Given the description of an element on the screen output the (x, y) to click on. 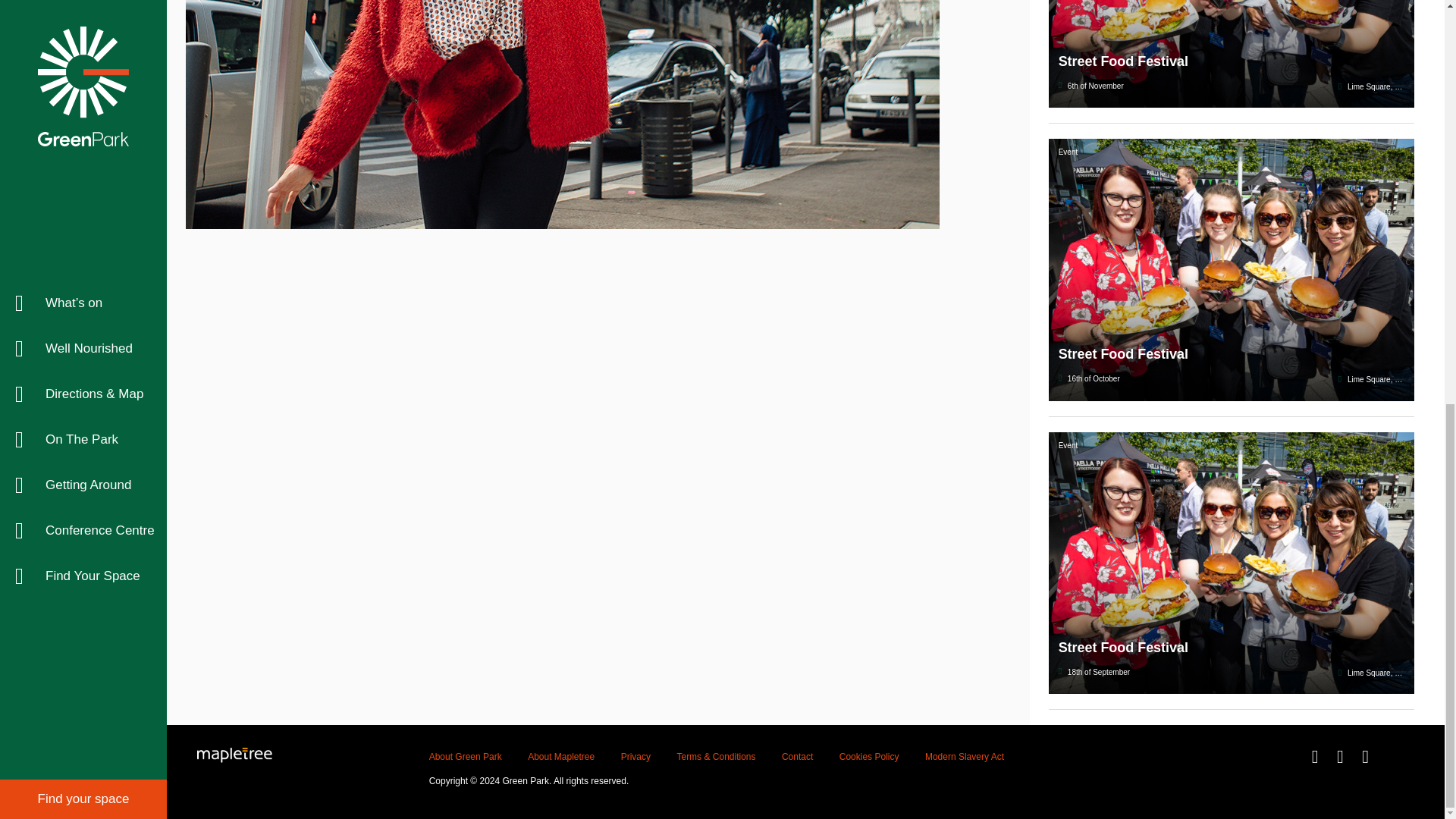
Privacy (635, 756)
About Mapletree (560, 756)
About Green Park (465, 756)
Find your space (83, 11)
Cookies Policy (869, 756)
Modern Slavery Act (964, 756)
Contact (796, 756)
